Given the description of an element on the screen output the (x, y) to click on. 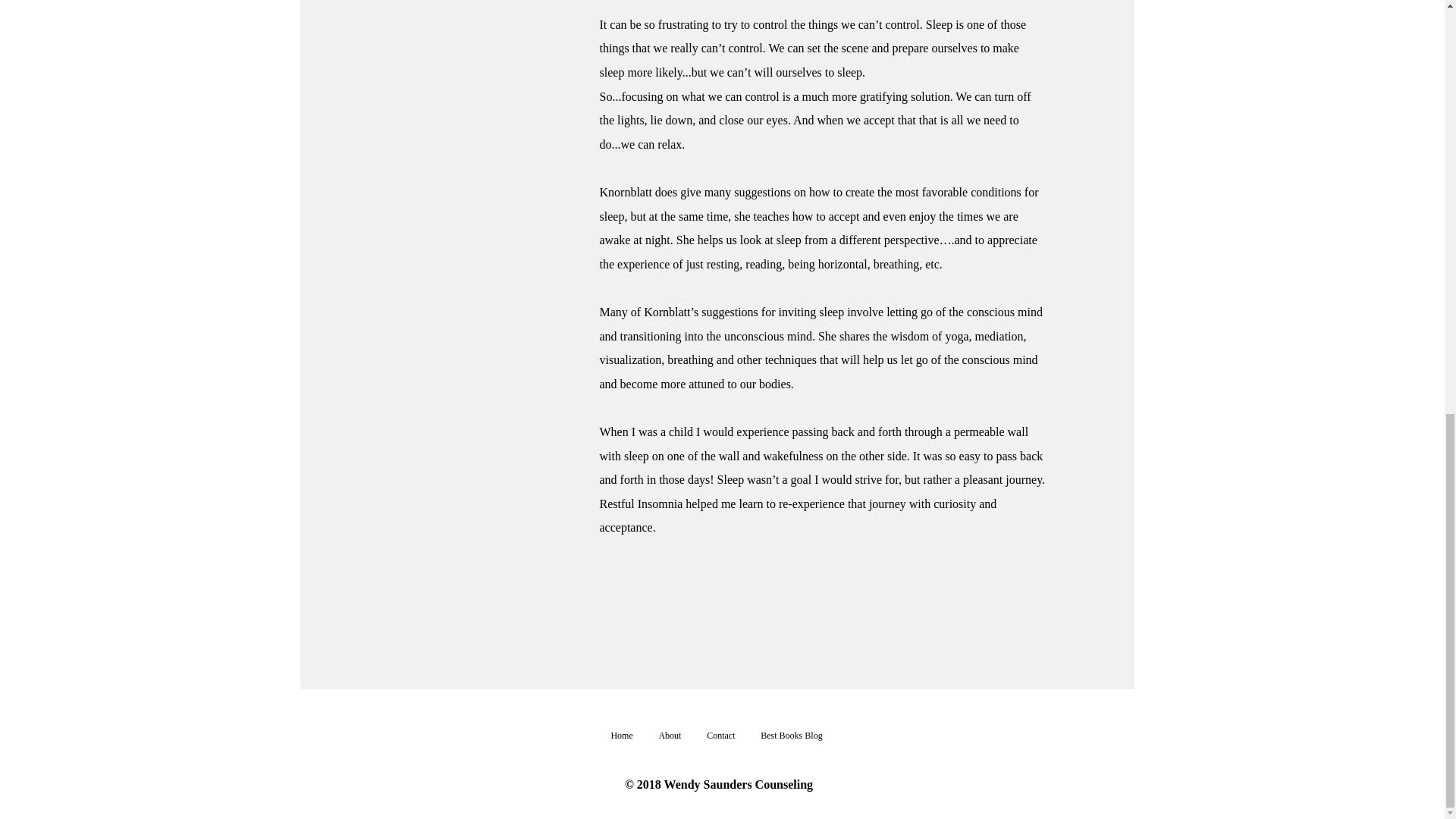
Home (620, 735)
Best Books Blog (791, 735)
Contact (721, 735)
About (670, 735)
